Given the description of an element on the screen output the (x, y) to click on. 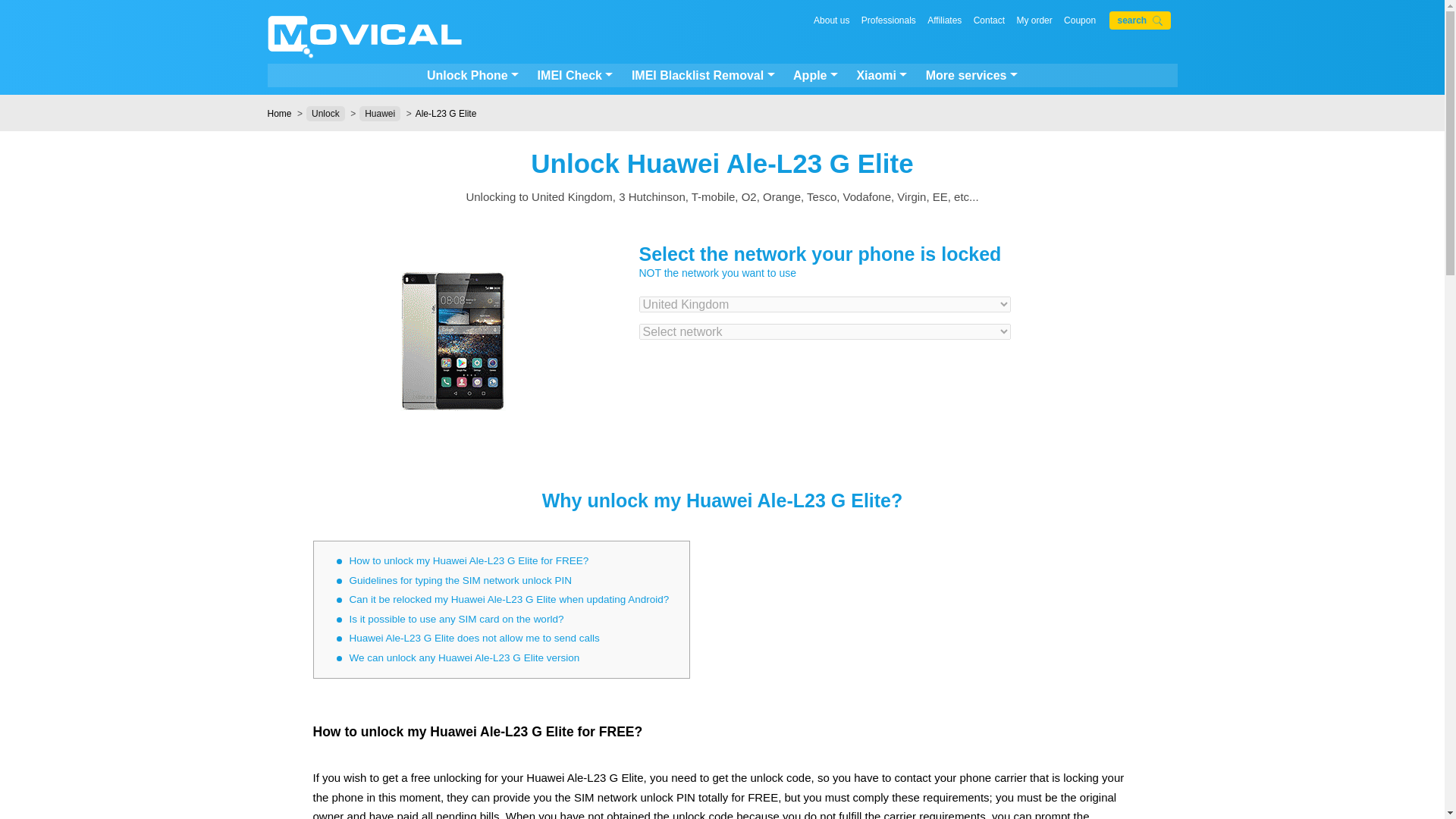
Coupon (1080, 20)
Affiliates (943, 20)
My order (1033, 20)
IMEI Blacklist Removal (702, 76)
Unlock Phone (472, 76)
Movical.Net (364, 37)
search (1139, 20)
IMEI Check (574, 76)
Contact (989, 20)
Professionals (888, 20)
About us (830, 20)
